Given the description of an element on the screen output the (x, y) to click on. 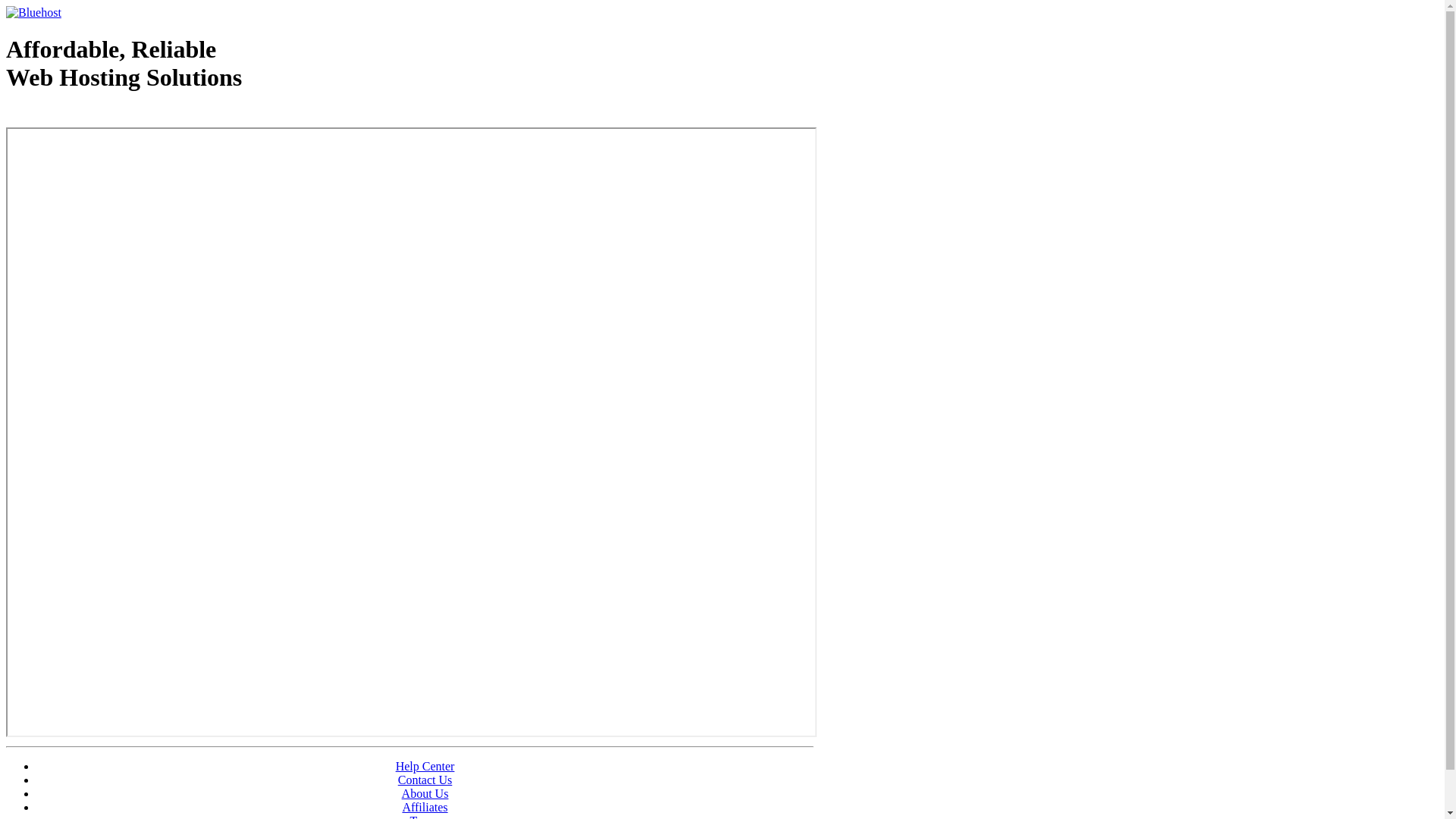
Help Center Element type: text (425, 765)
Contact Us Element type: text (425, 779)
Web Hosting - courtesy of www.bluehost.com Element type: text (94, 115)
Affiliates Element type: text (424, 806)
About Us Element type: text (424, 793)
